Given the description of an element on the screen output the (x, y) to click on. 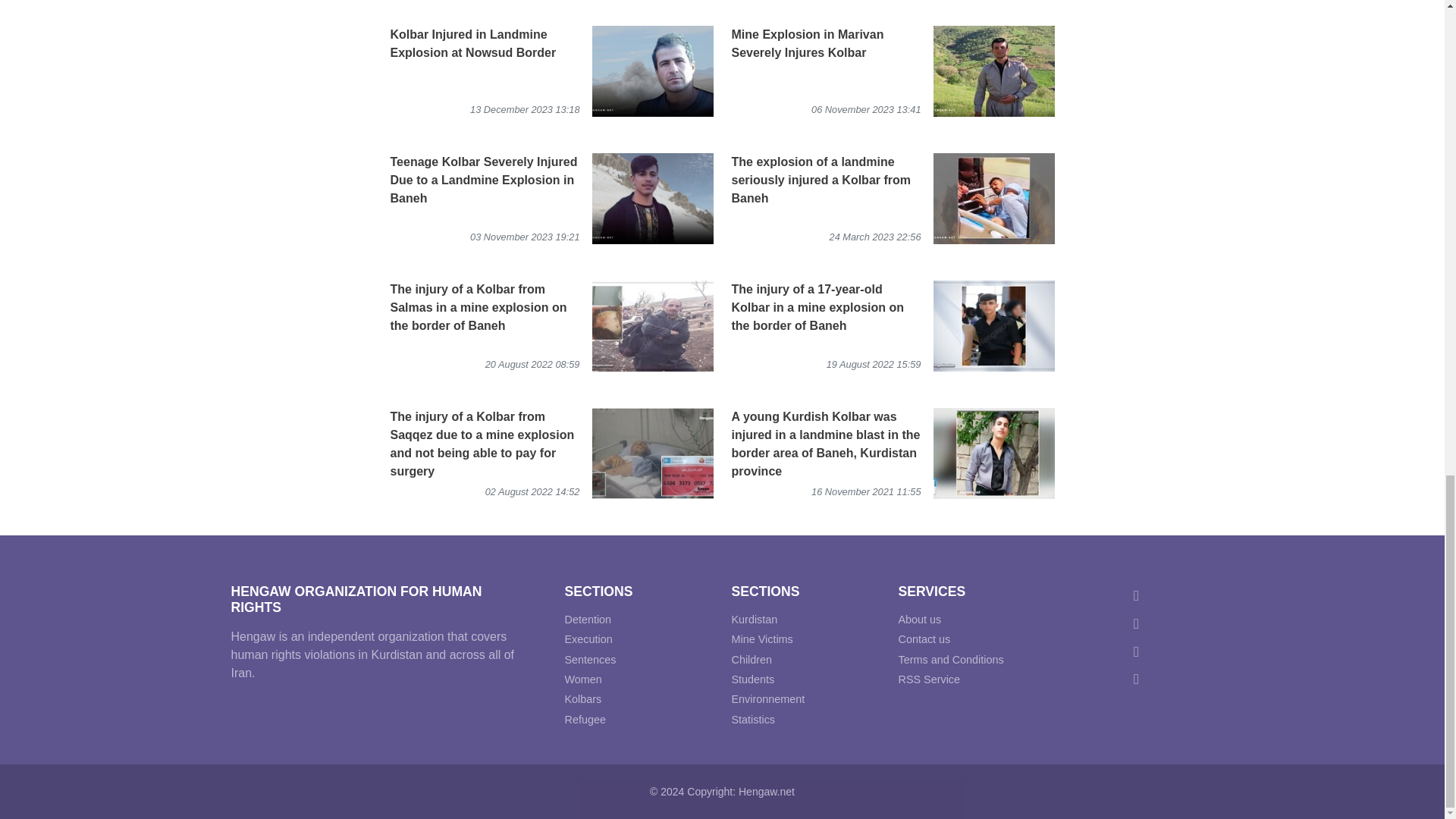
Detention (587, 619)
Execution (587, 639)
